Given the description of an element on the screen output the (x, y) to click on. 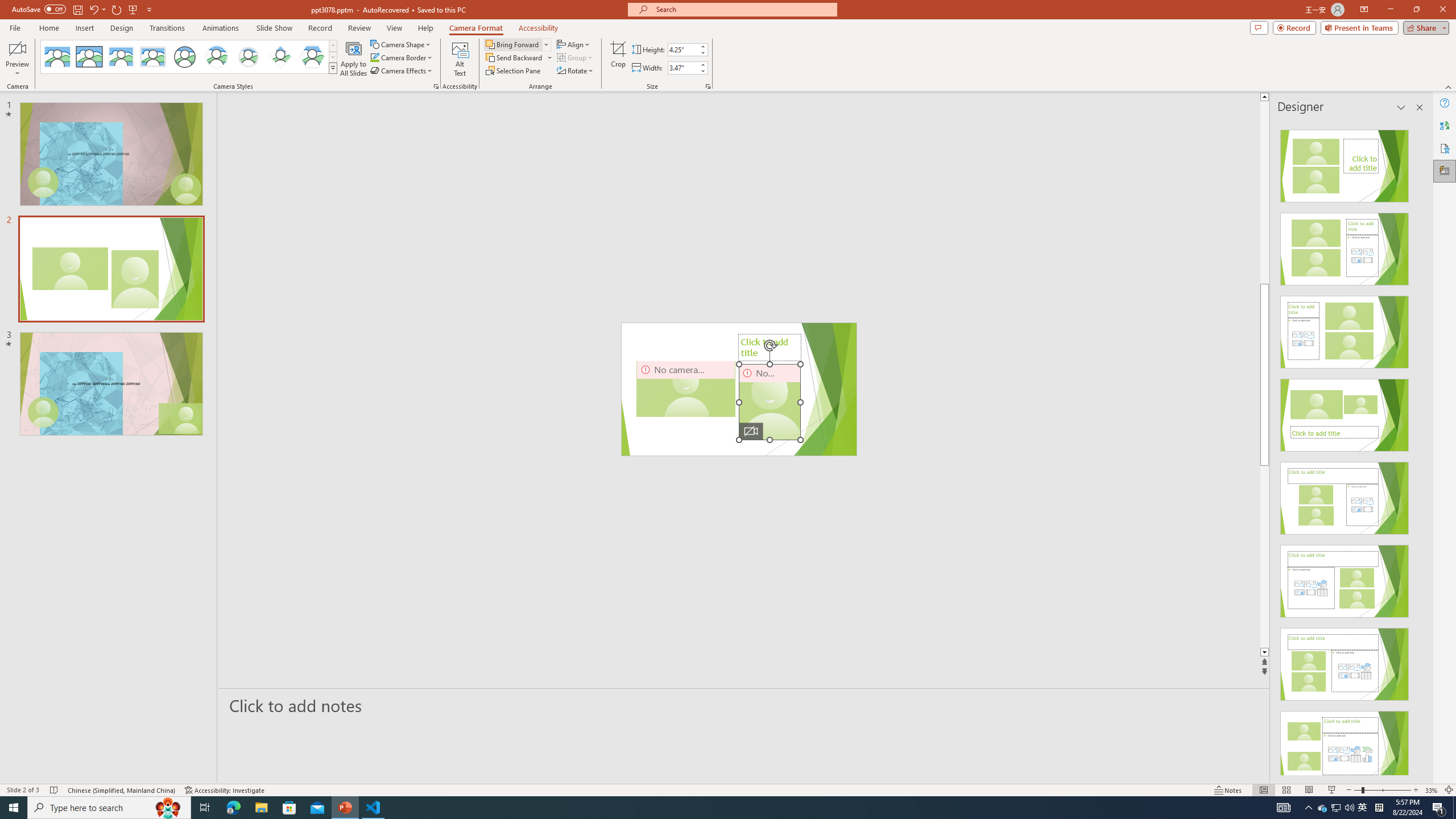
No Style (57, 56)
Cameo Width (682, 67)
Design Idea (1344, 743)
AutomationID: CameoStylesGallery (189, 56)
Soft Edge Rectangle (152, 56)
